Given the description of an element on the screen output the (x, y) to click on. 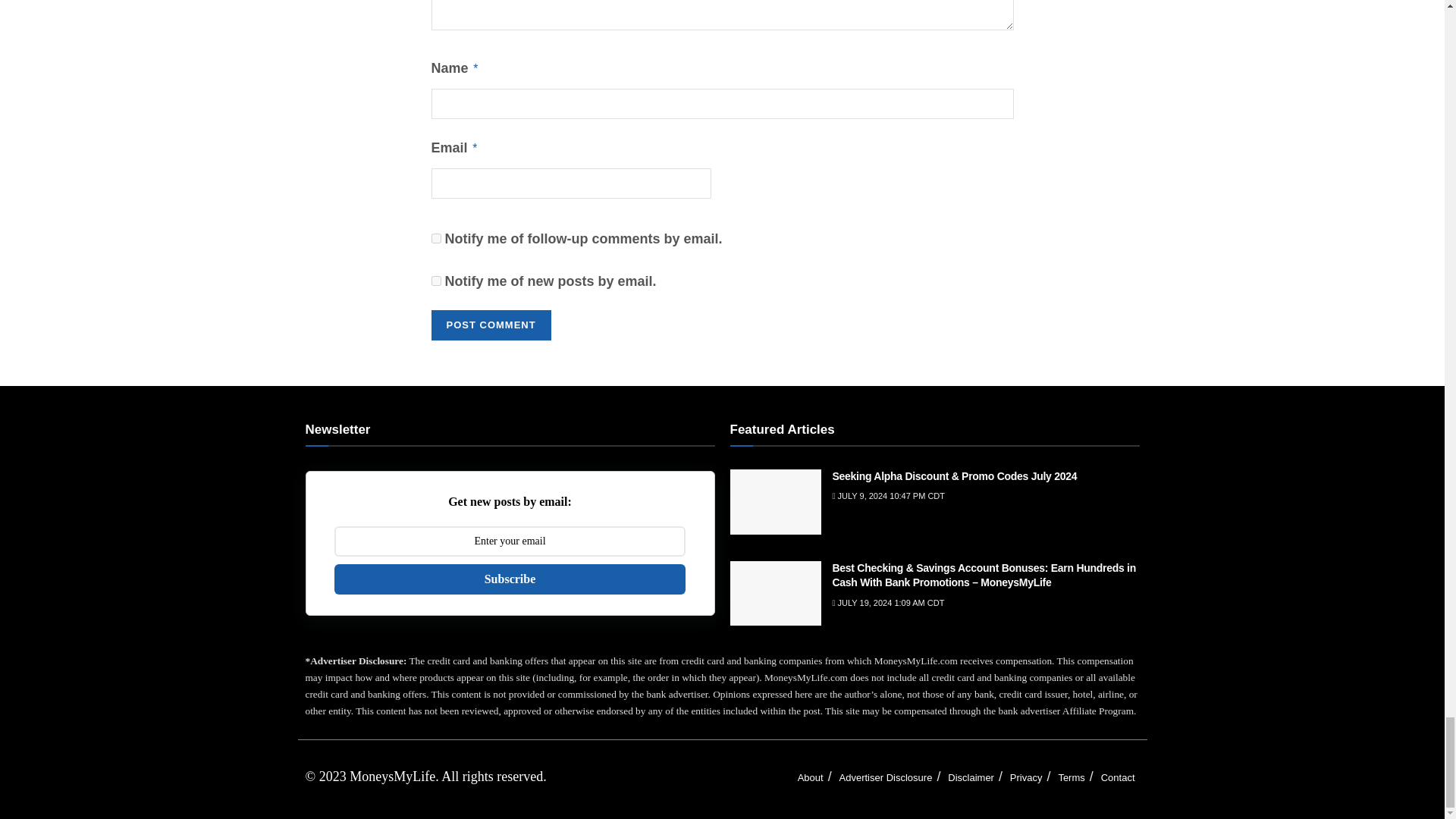
subscribe (435, 280)
Post Comment (490, 325)
subscribe (435, 238)
